Given the description of an element on the screen output the (x, y) to click on. 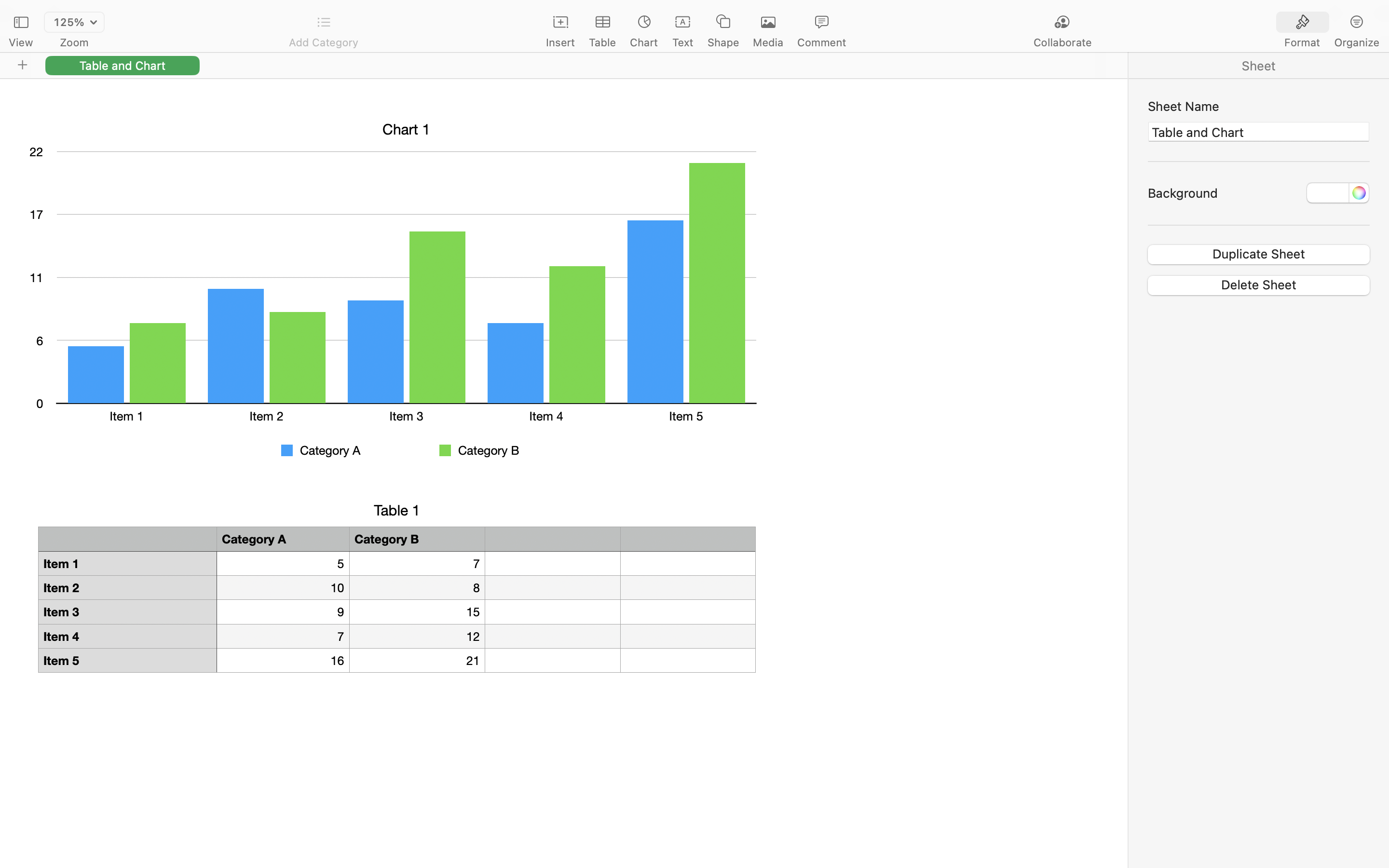
Table and Chart Element type: AXTextField (1258, 131)
Untitled Element type: AXStaticText (694, 12)
Sheet Name Element type: AXStaticText (1258, 105)
Organize Element type: AXStaticText (1356, 42)
